Given the description of an element on the screen output the (x, y) to click on. 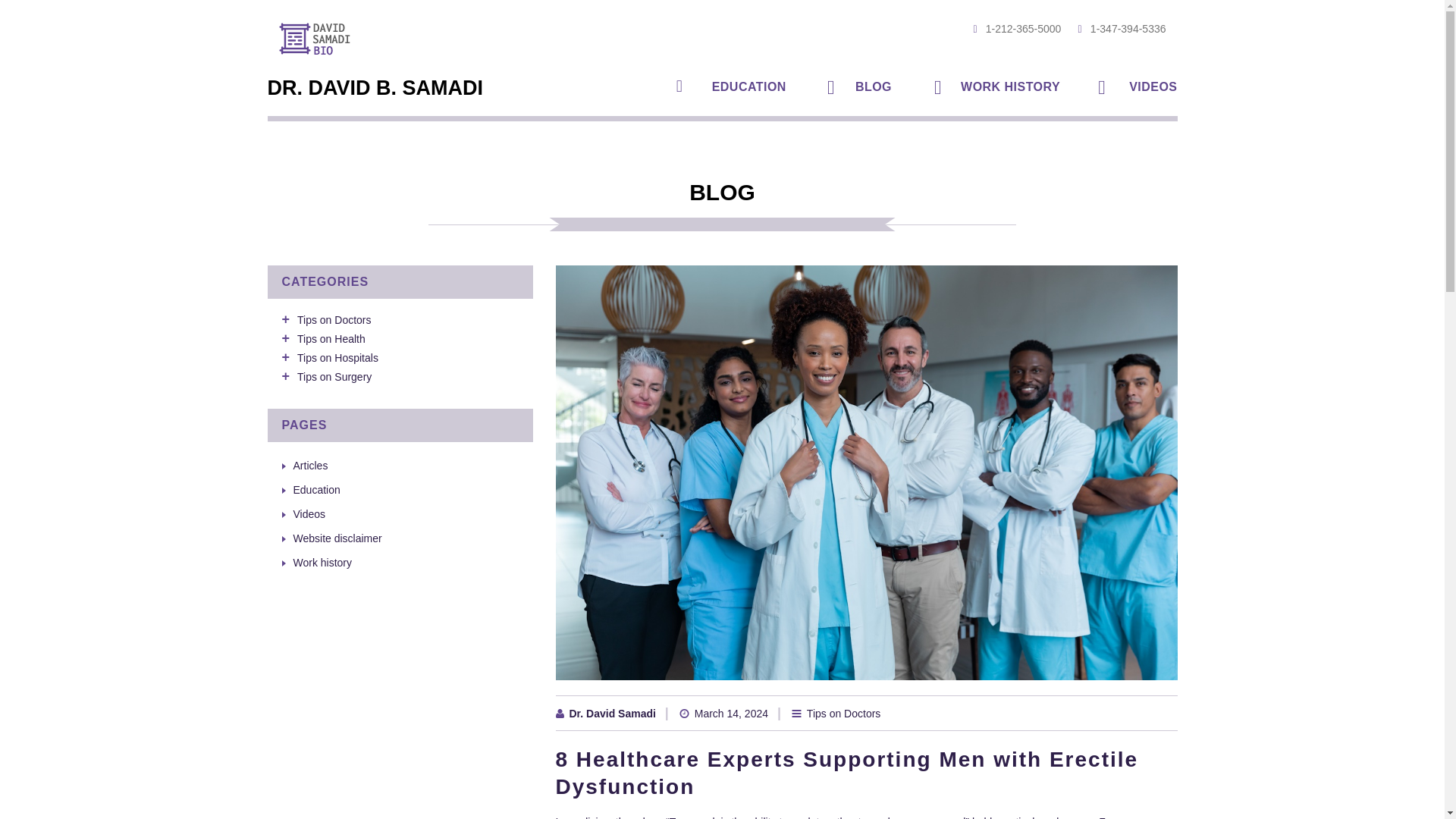
Work history (999, 88)
BLOG (862, 88)
Tips on Doctors (334, 319)
DR. DAVID B. SAMADI (378, 91)
Videos (308, 513)
WORK HISTORY (999, 88)
Tips on Hospitals (337, 357)
1-347-394-5336 (1113, 28)
1-212-365-5000 (1008, 28)
EDUCATION (738, 88)
Education (738, 88)
1-212-365-5000 (1008, 28)
Articles (309, 465)
Tips on Surgery (334, 377)
